Given the description of an element on the screen output the (x, y) to click on. 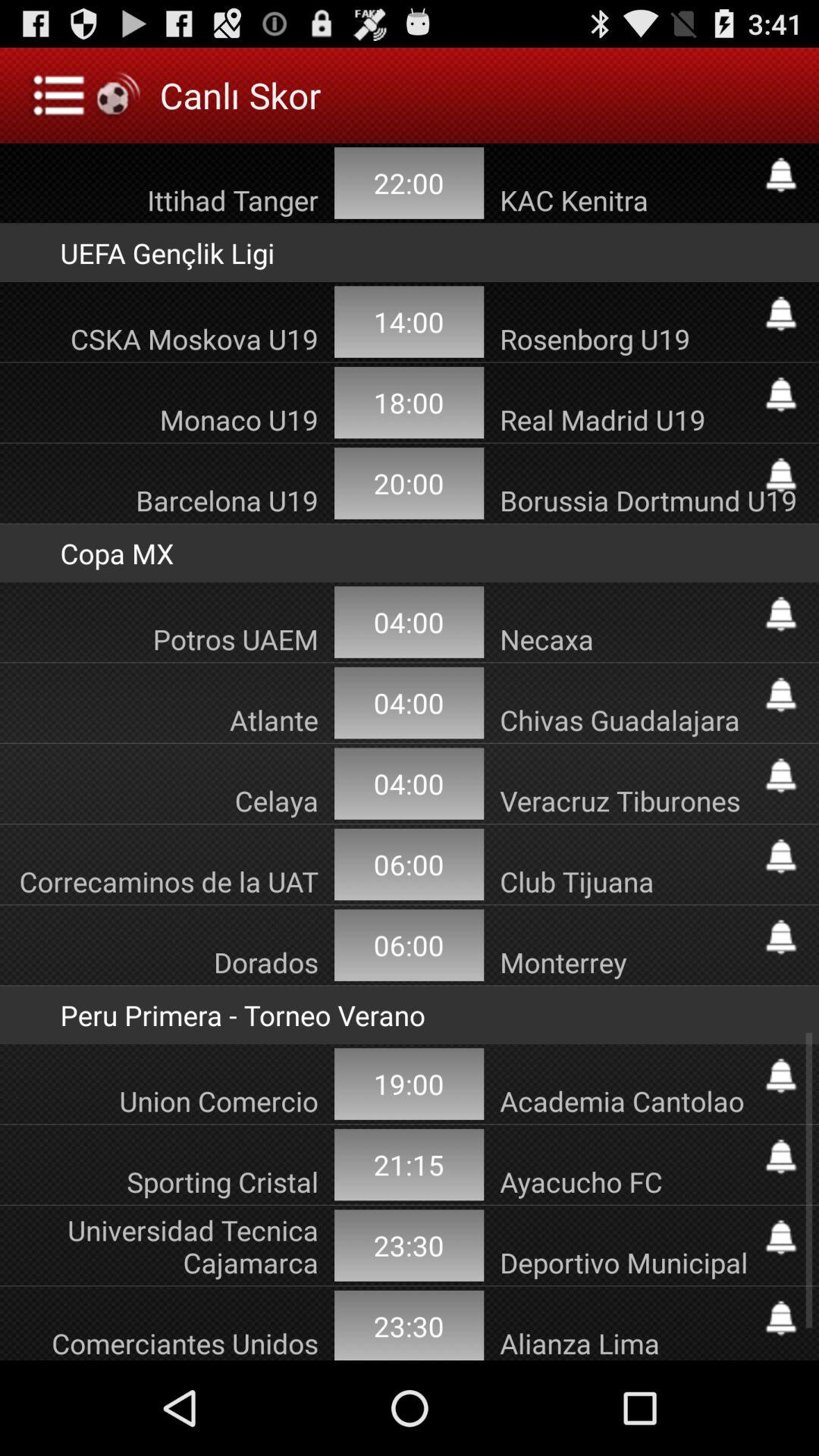
turn on notifcations (780, 313)
